Given the description of an element on the screen output the (x, y) to click on. 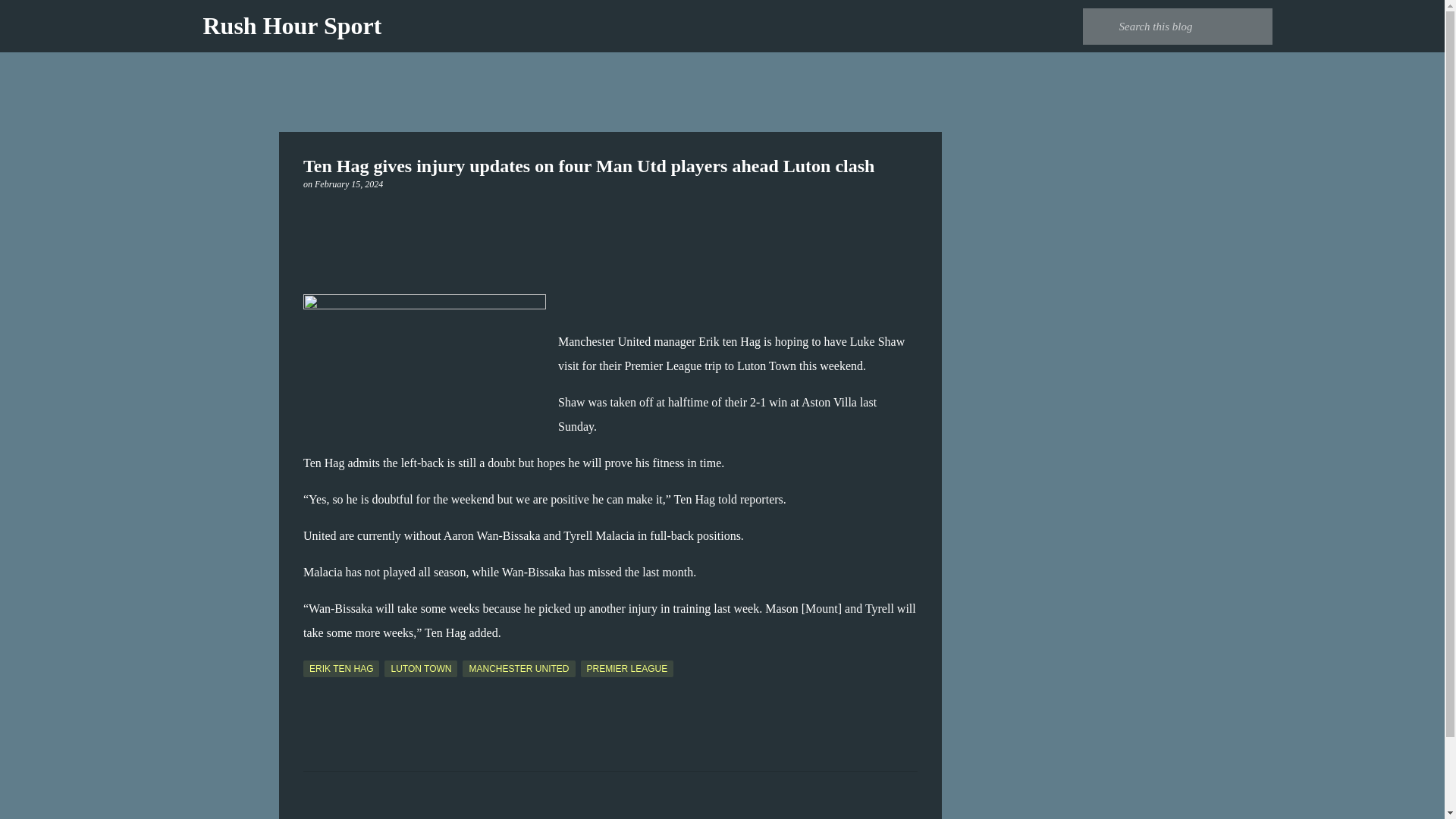
February 15, 2024 (348, 184)
ERIK TEN HAG (340, 668)
PREMIER LEAGUE (627, 668)
permanent link (348, 184)
Rush Hour Sport (292, 25)
MANCHESTER UNITED (519, 668)
LUTON TOWN (420, 668)
